Given the description of an element on the screen output the (x, y) to click on. 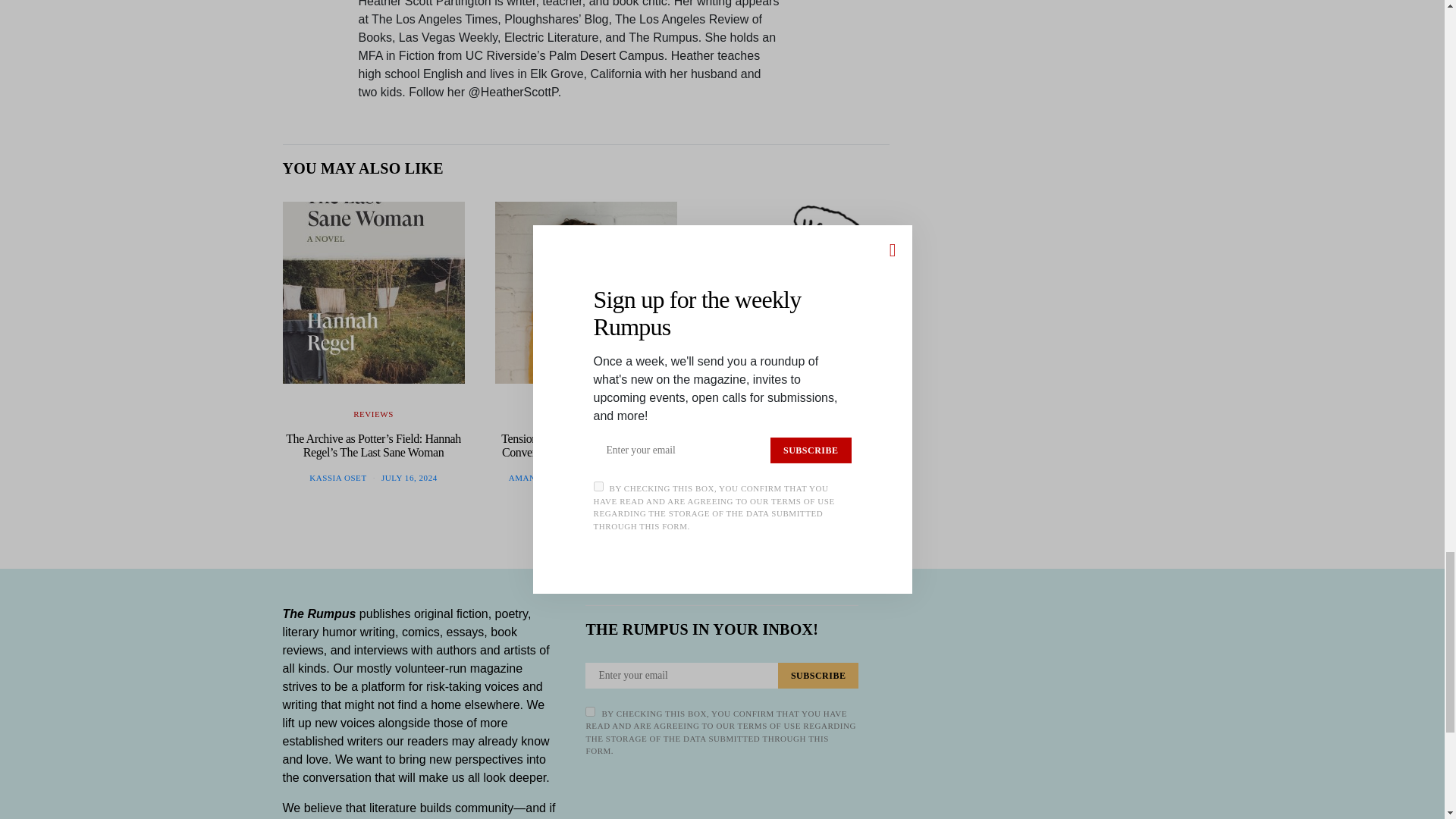
View all posts by Kassia Oset (337, 477)
View all posts by K.E. Flann and Emily Flake (797, 477)
on (590, 711)
3rd party ad content (1047, 80)
View all posts by Amanda Hawkins (550, 477)
